Given the description of an element on the screen output the (x, y) to click on. 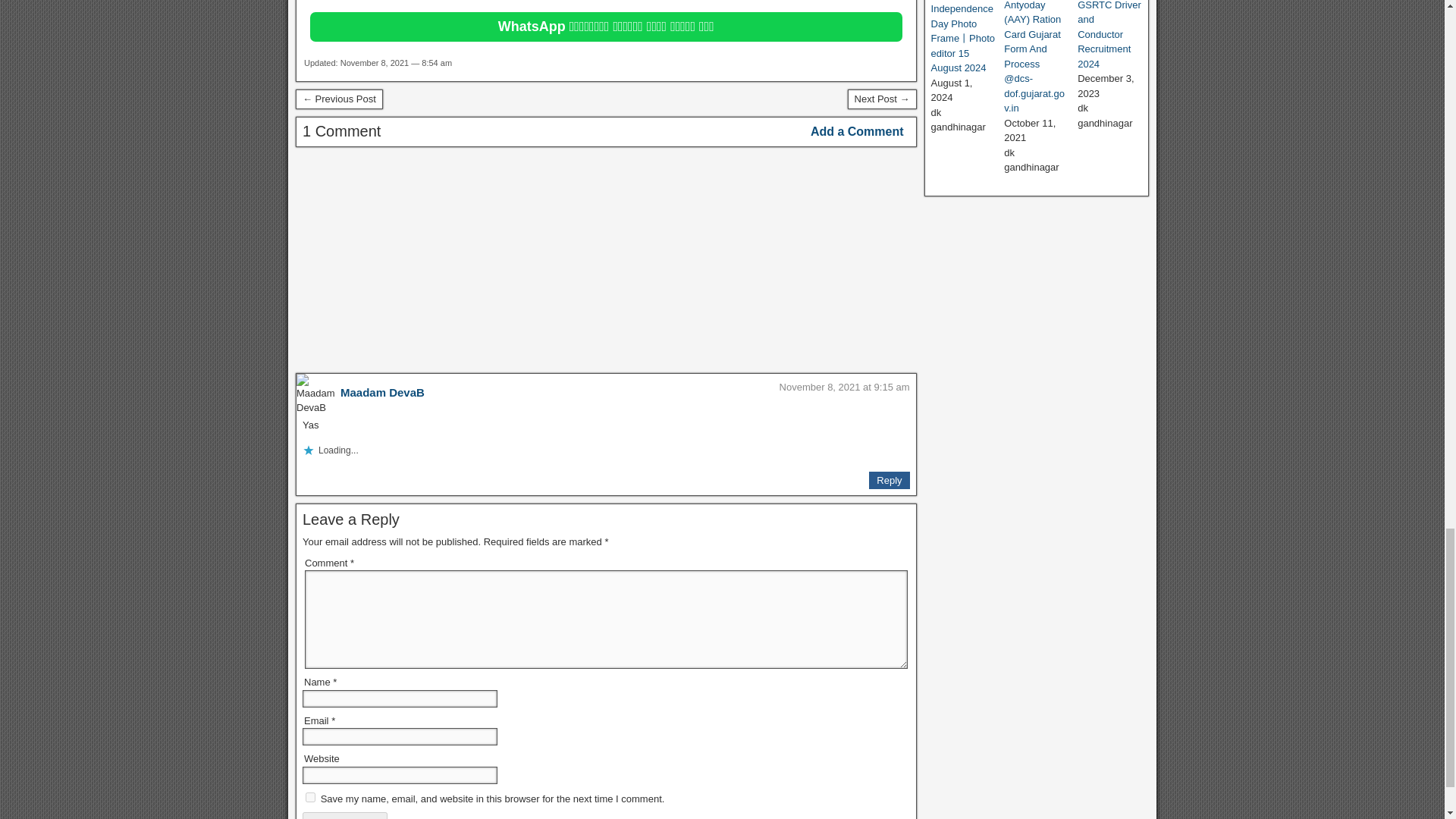
Maadam DevaB (382, 391)
yes (310, 797)
November 8, 2021 at 9:15 am (844, 387)
Reply (888, 480)
Post Comment (344, 815)
Post Comment (344, 815)
Add a Comment (857, 131)
